Given the description of an element on the screen output the (x, y) to click on. 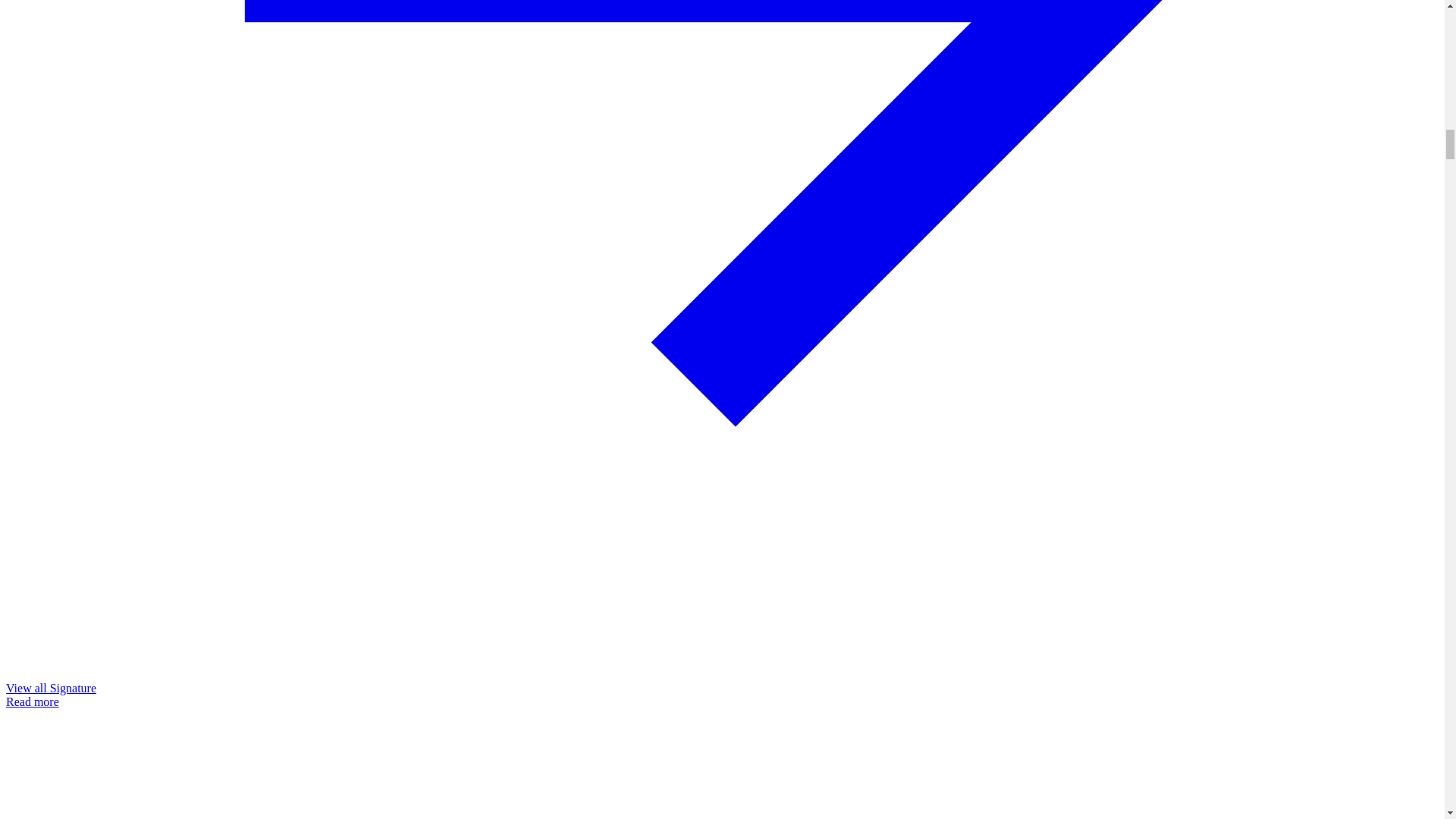
View all Signature (50, 687)
